Given the description of an element on the screen output the (x, y) to click on. 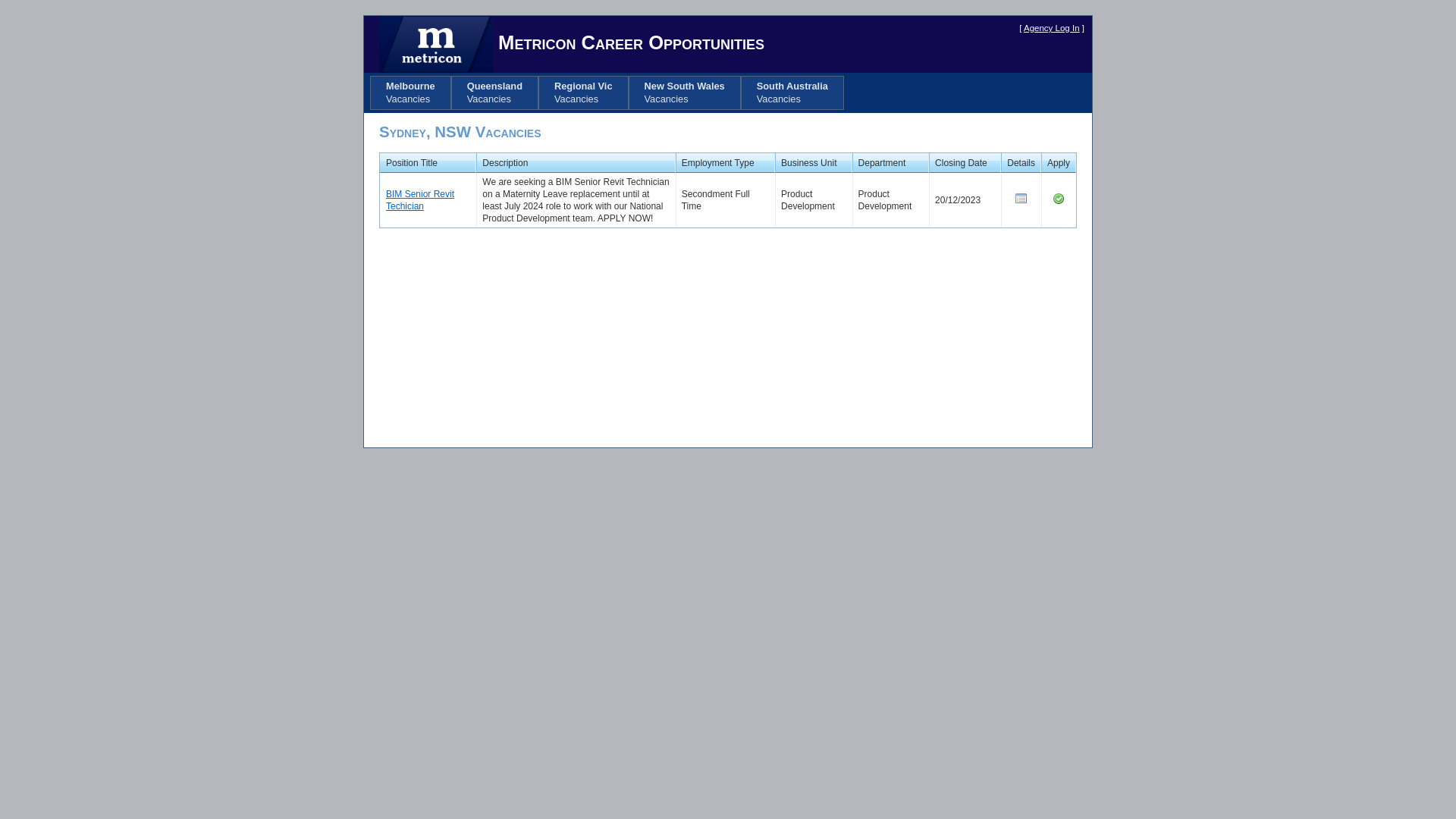
BIM Senior Revit Techician Element type: text (419, 199)
Description Element type: text (504, 162)
Queensland
Vacancies Element type: text (494, 92)
South Australia
Vacancies Element type: text (792, 92)
Business Unit Element type: text (808, 162)
Agency Log In Element type: text (1051, 27)
Employment Type Element type: text (717, 162)
Apply Now Element type: hover (1058, 198)
New South Wales
Vacancies Element type: text (684, 92)
Closing Date Element type: text (961, 162)
Melbourne
Vacancies Element type: text (410, 92)
Regional Vic
Vacancies Element type: text (583, 92)
Apply Now Element type: hover (1058, 201)
Department Element type: text (882, 162)
Job Details Element type: hover (1021, 201)
Job Details Element type: hover (1021, 198)
